Given the description of an element on the screen output the (x, y) to click on. 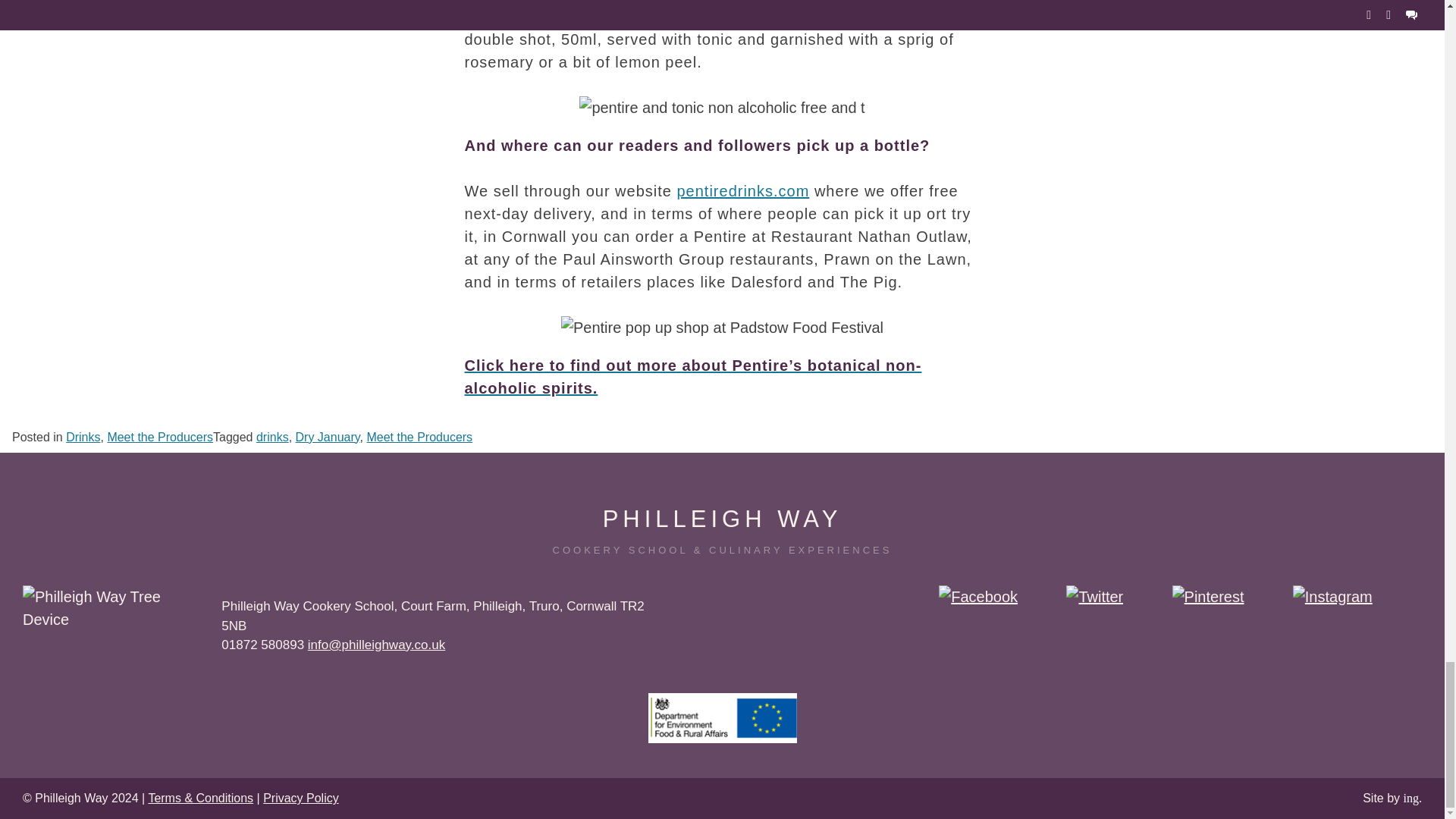
Privacy Policy (301, 797)
Pinterest (1208, 596)
Part-funded by DEFRA (721, 717)
Instagram (1332, 596)
Facebook (978, 596)
pentiredrinks.com (743, 190)
drinks (272, 436)
Twitter (1093, 596)
Meet the Producers (159, 436)
Drinks (82, 436)
